Given the description of an element on the screen output the (x, y) to click on. 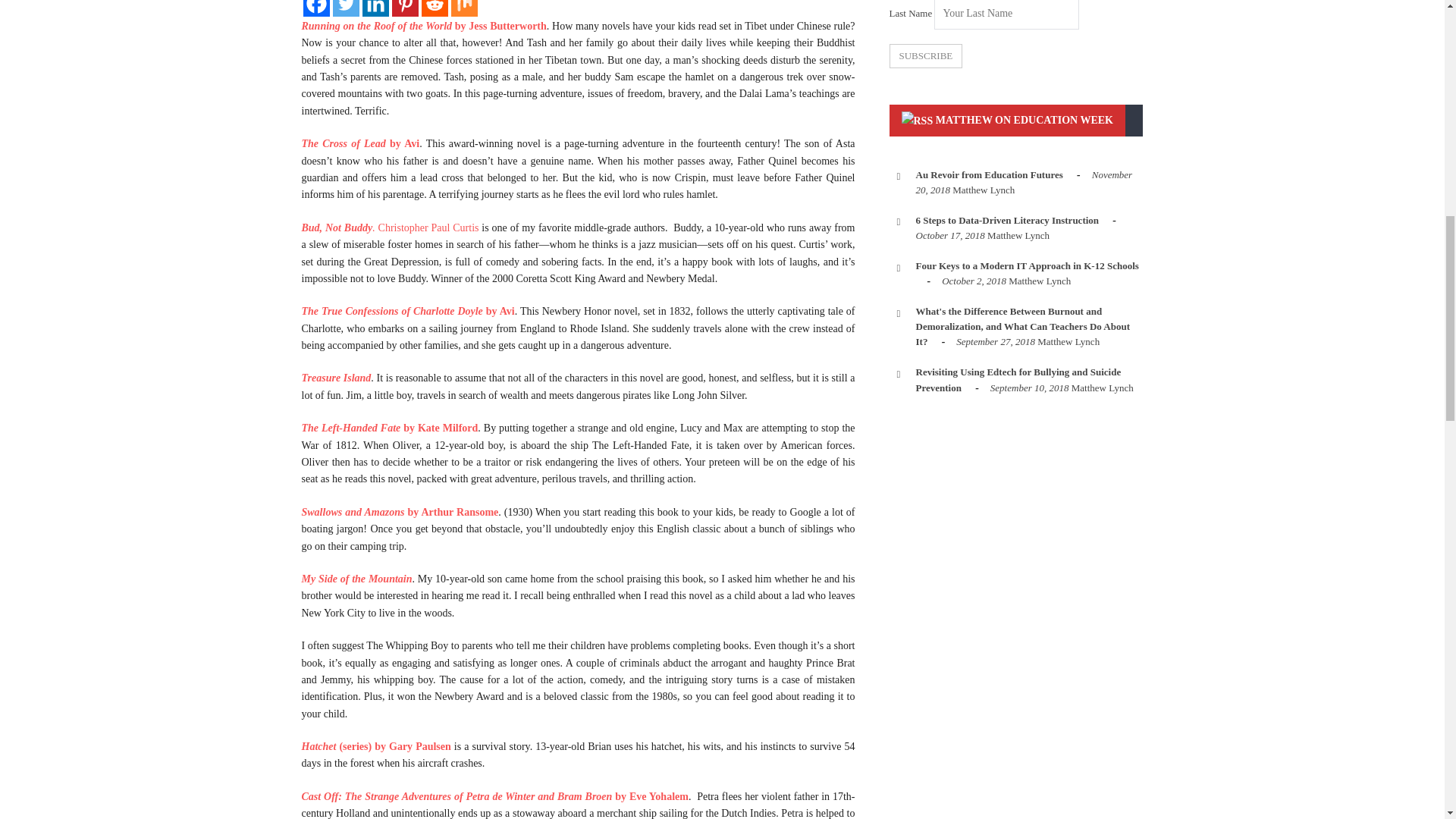
Facebook (316, 8)
Reddit (435, 8)
Pinterest (404, 8)
Mix (463, 8)
Subscribe (925, 55)
Linkedin (375, 8)
Twitter (344, 8)
